Given the description of an element on the screen output the (x, y) to click on. 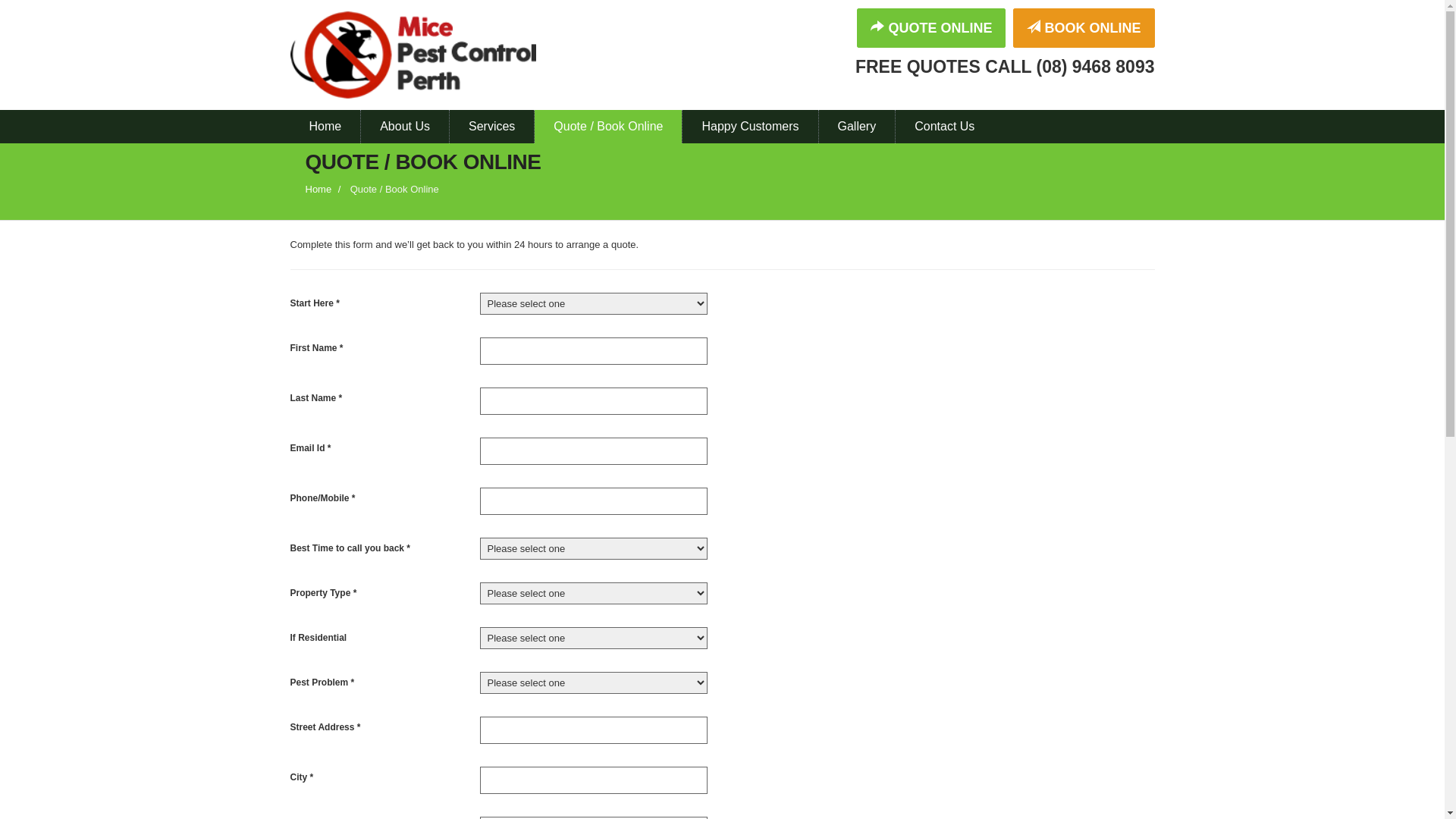
Happy Customers Element type: text (749, 126)
QUOTE ONLINE Element type: text (930, 27)
Home Element type: text (324, 126)
FREE QUOTES CALL (08) 9468 8093 Element type: text (869, 66)
Quote / Book Online Element type: text (607, 126)
Bee Bugs Removal perth Element type: hover (425, 54)
Services Element type: text (491, 126)
Home Element type: text (317, 188)
BOOK ONLINE Element type: text (1083, 27)
About Us Element type: text (404, 126)
Contact Us Element type: text (944, 126)
Gallery Element type: text (857, 126)
